Given the description of an element on the screen output the (x, y) to click on. 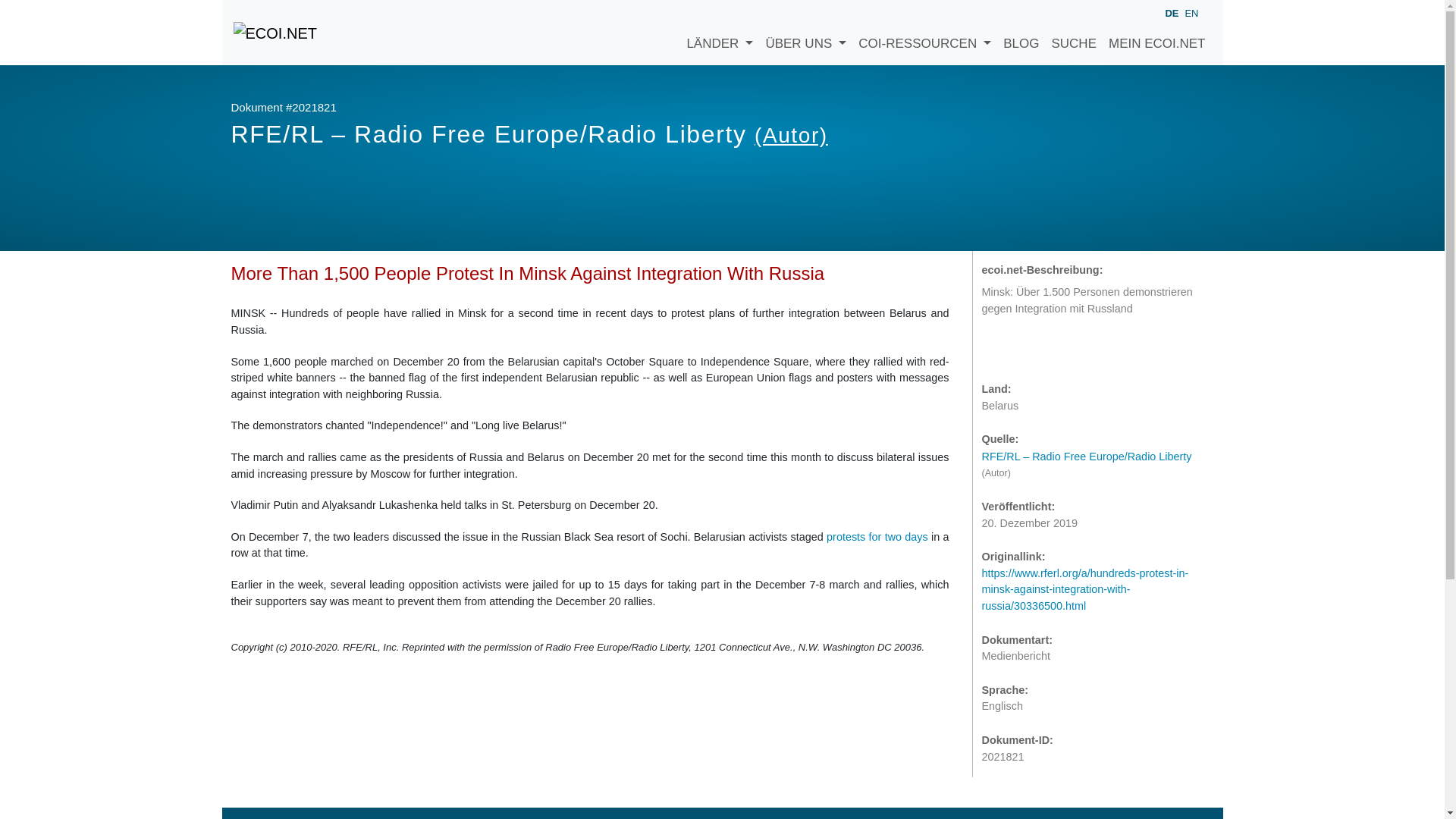
Englisch (1190, 12)
EN (1190, 12)
Permalink (1056, 349)
protests for two days (877, 536)
COI-RESSOURCEN (924, 32)
BLOG (1021, 32)
Deutsch (1170, 13)
Quellenbeschreibung lesen (1094, 456)
Zur Startseite von ecoi.net gehen (274, 32)
Zitieren als (996, 349)
MEIN ECOI.NET (1156, 32)
Teilen (1026, 349)
SUCHE (1073, 32)
